Given the description of an element on the screen output the (x, y) to click on. 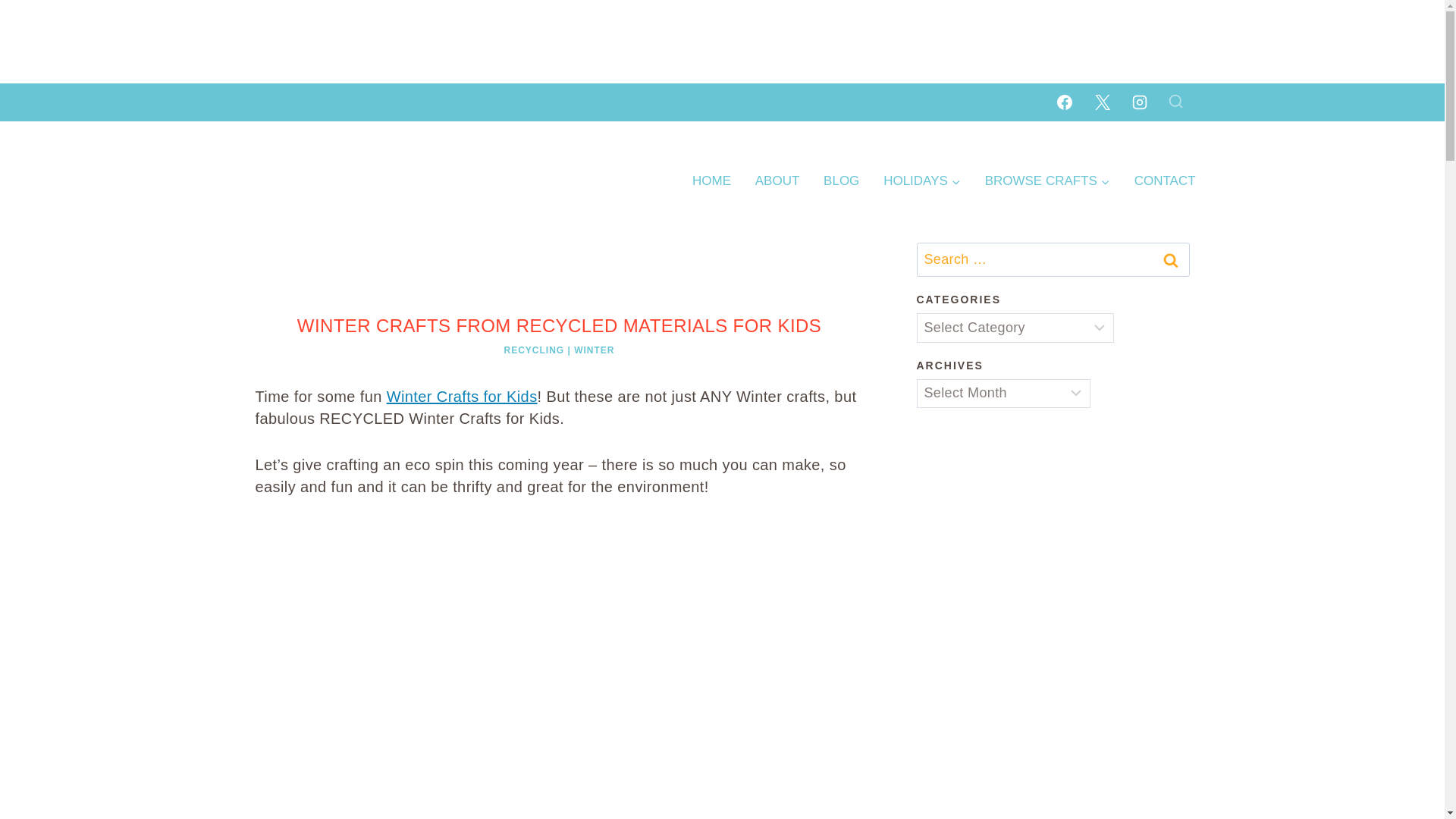
BLOG (840, 180)
HOME (710, 180)
Search (1170, 259)
HOLIDAYS (921, 180)
CONTACT (1165, 180)
ABOUT (776, 180)
Search (1170, 259)
BROWSE CRAFTS (1047, 180)
